Given the description of an element on the screen output the (x, y) to click on. 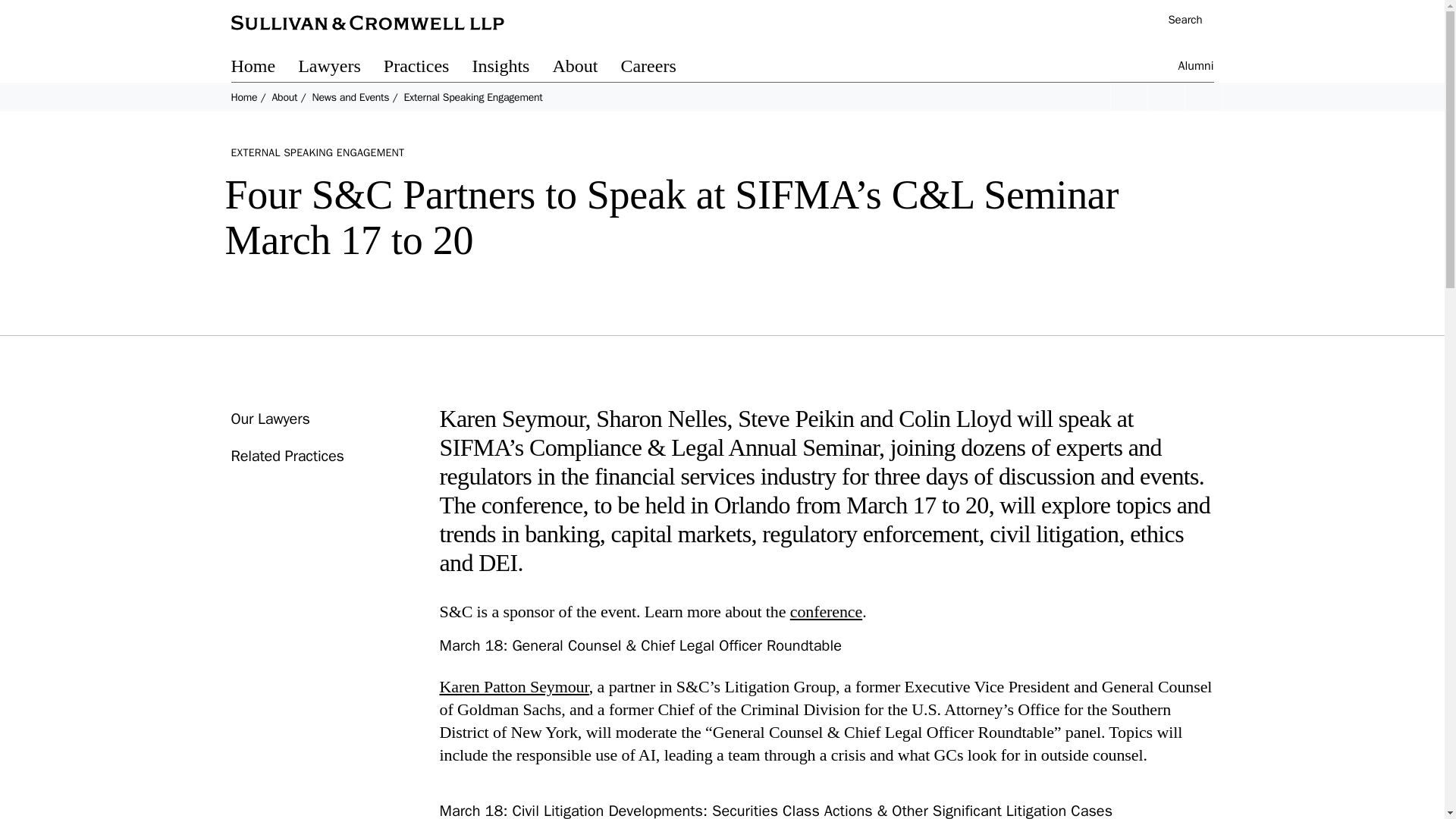
About (283, 97)
conference (825, 610)
Insights (511, 67)
Karen Patton Seymour (514, 686)
Search (1176, 20)
Related Practices (286, 456)
Alumni (1195, 67)
Lawyers (341, 67)
Practices (427, 67)
Karen Patton Seymour (514, 686)
Our Lawyers (269, 418)
About (585, 67)
Home (264, 67)
Careers (659, 67)
Home (243, 97)
